Given the description of an element on the screen output the (x, y) to click on. 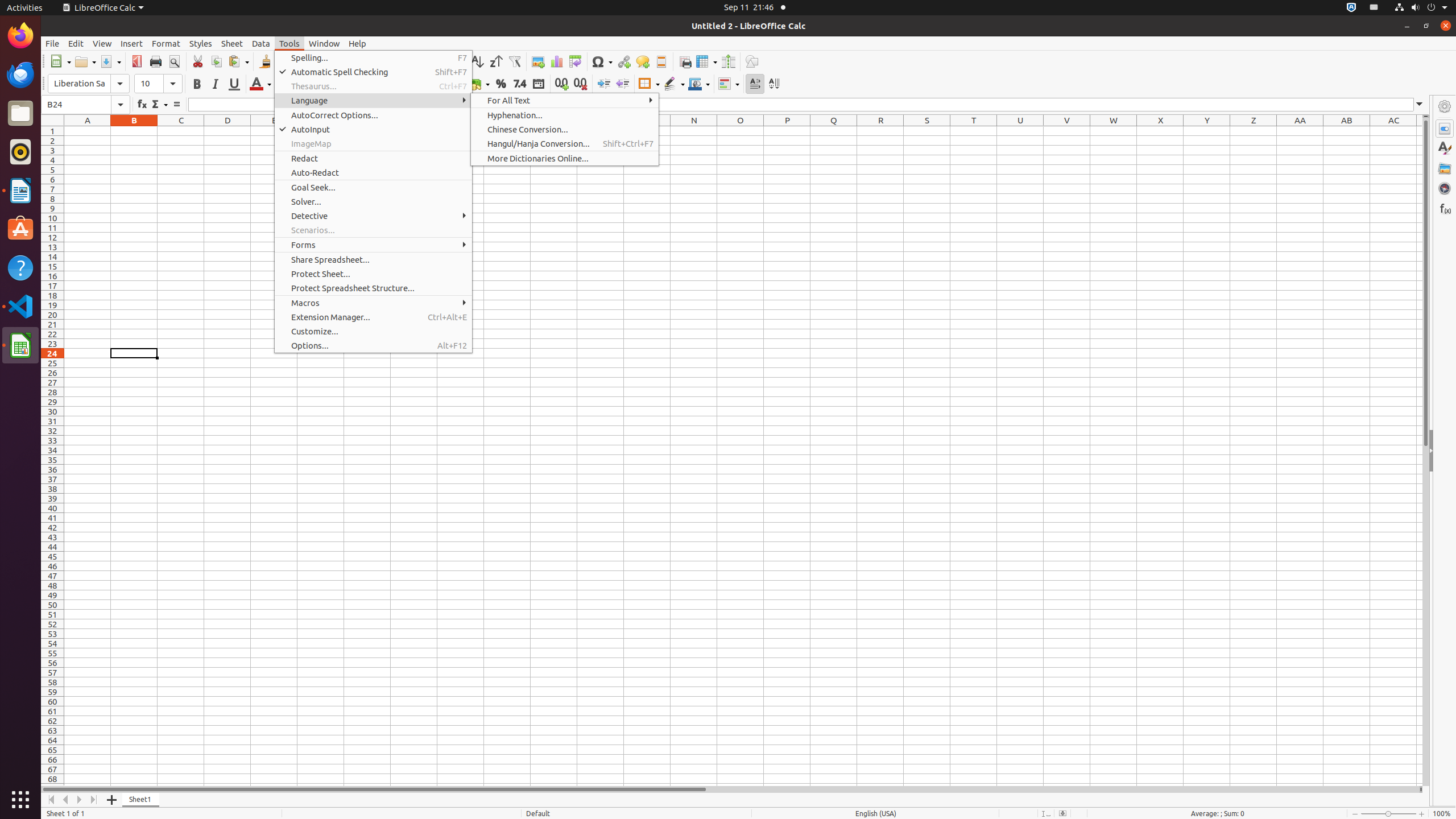
Q1 Element type: table-cell (833, 130)
Z1 Element type: table-cell (1253, 130)
Edit Element type: menu (75, 43)
Insert Element type: menu (131, 43)
AA1 Element type: table-cell (1299, 130)
